Given the description of an element on the screen output the (x, y) to click on. 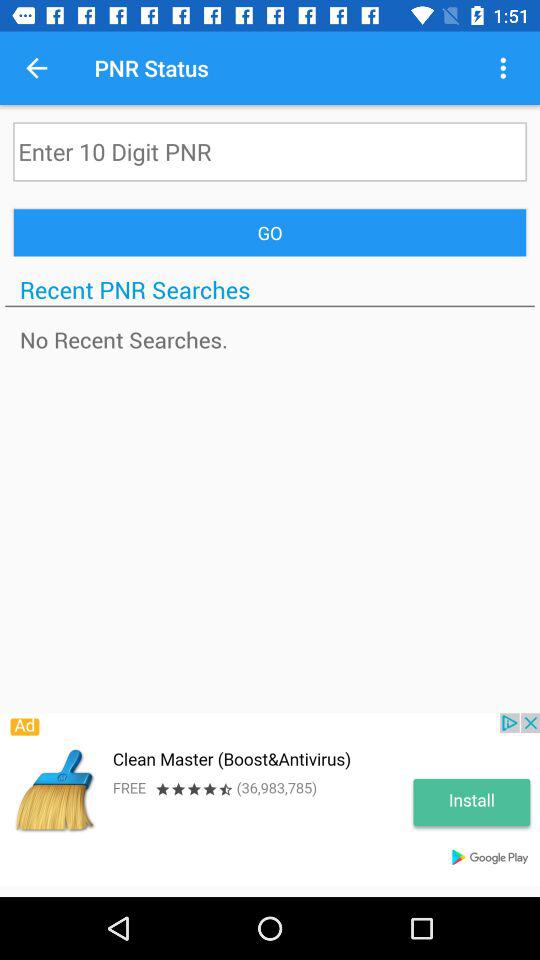
opens an advertisement (270, 799)
